Given the description of an element on the screen output the (x, y) to click on. 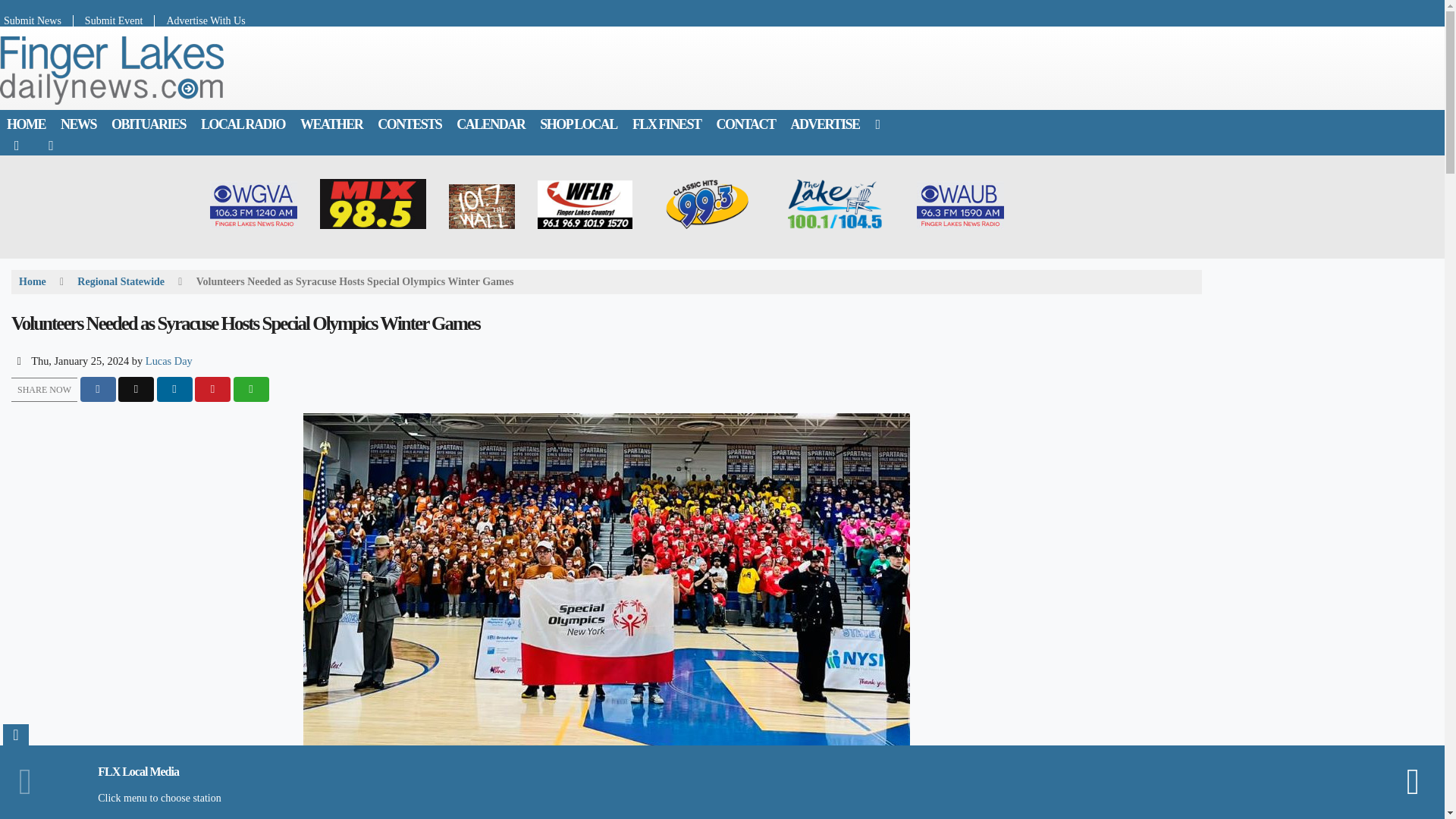
Submit Event (114, 20)
Follow us on X (50, 145)
Submit News (37, 20)
Follow us on Facebook (16, 145)
3rd party ad content (729, 68)
Advertise With Us (199, 20)
